Given the description of an element on the screen output the (x, y) to click on. 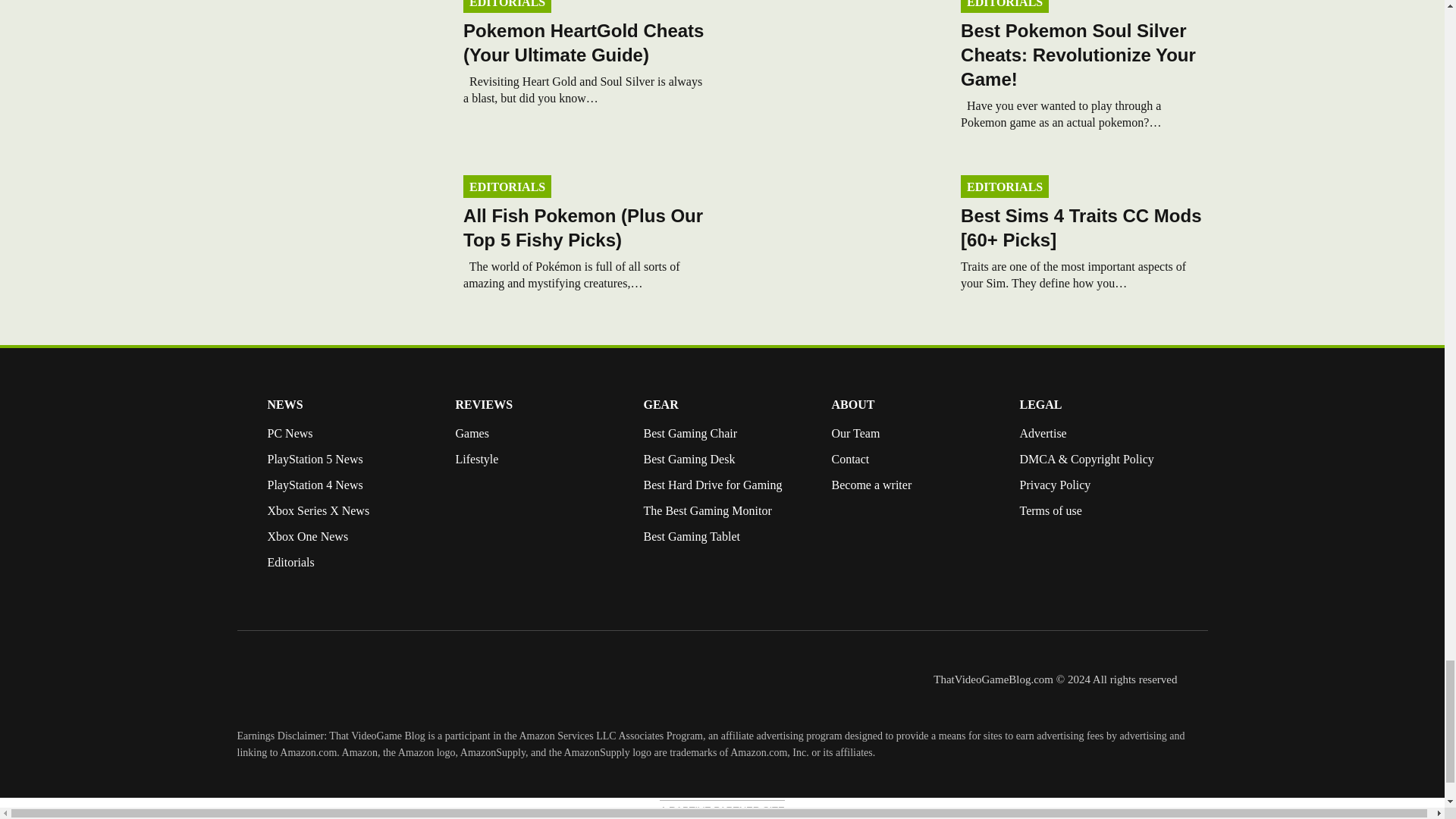
DMCA.com Protection Program (1049, 572)
